Given the description of an element on the screen output the (x, y) to click on. 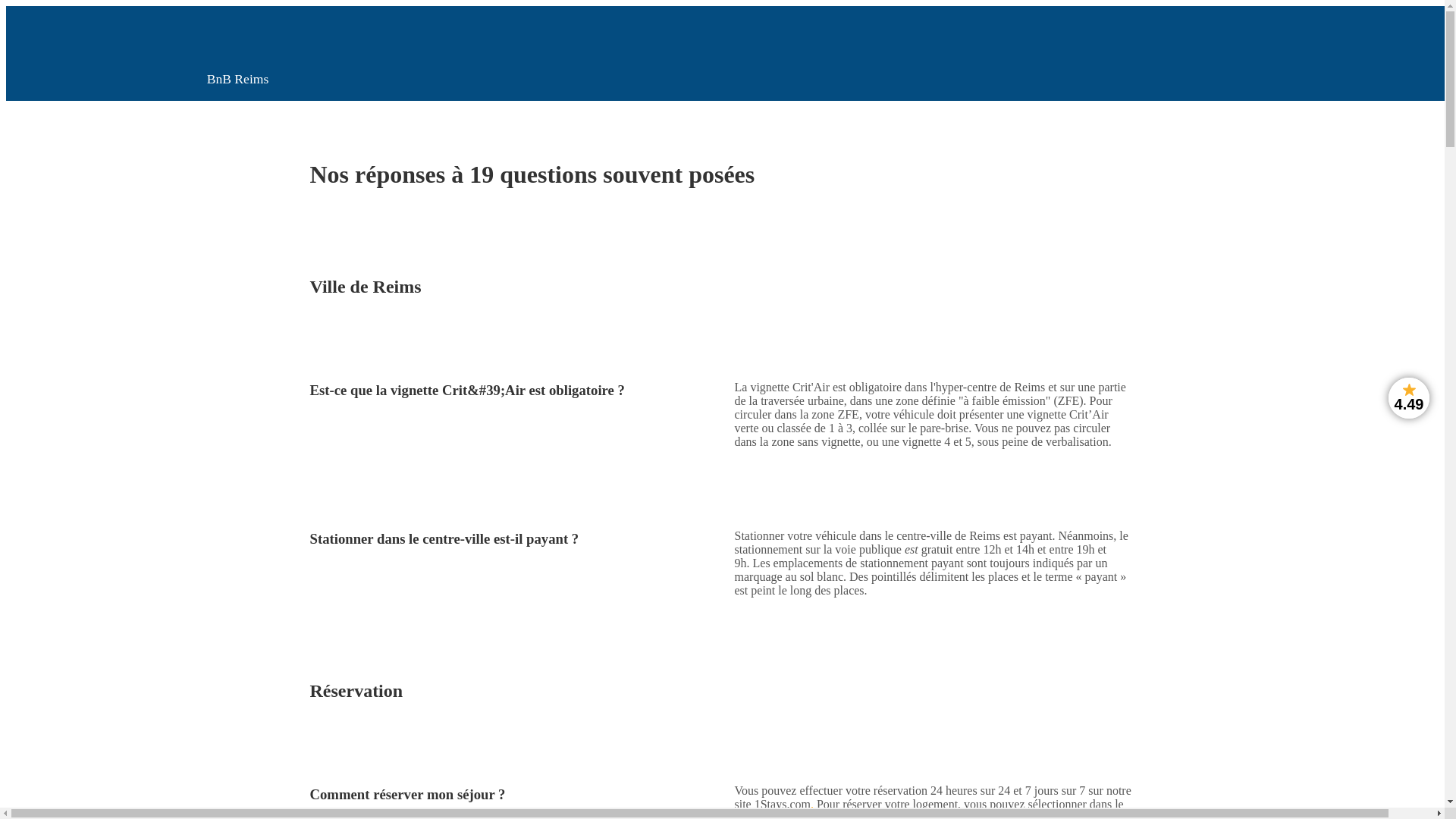
BnB Reims Element type: text (238, 56)
. Element type: text (811, 803)
